Given the description of an element on the screen output the (x, y) to click on. 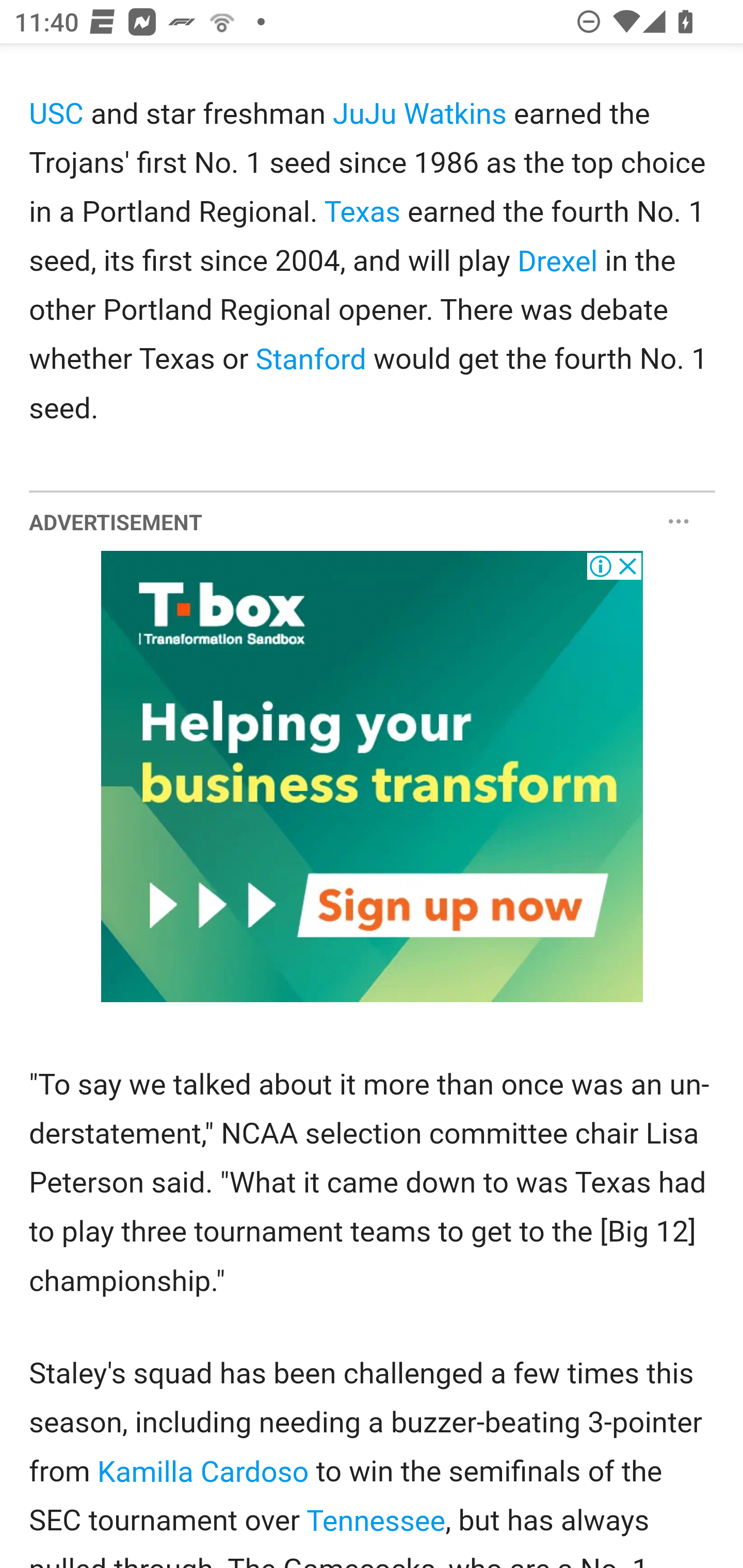
USC (56, 114)
JuJu Watkins (419, 114)
Texas (362, 212)
Drexel (557, 261)
Stanford (310, 360)
Kamilla Cardoso (202, 1471)
Tennessee (374, 1522)
